Given the description of an element on the screen output the (x, y) to click on. 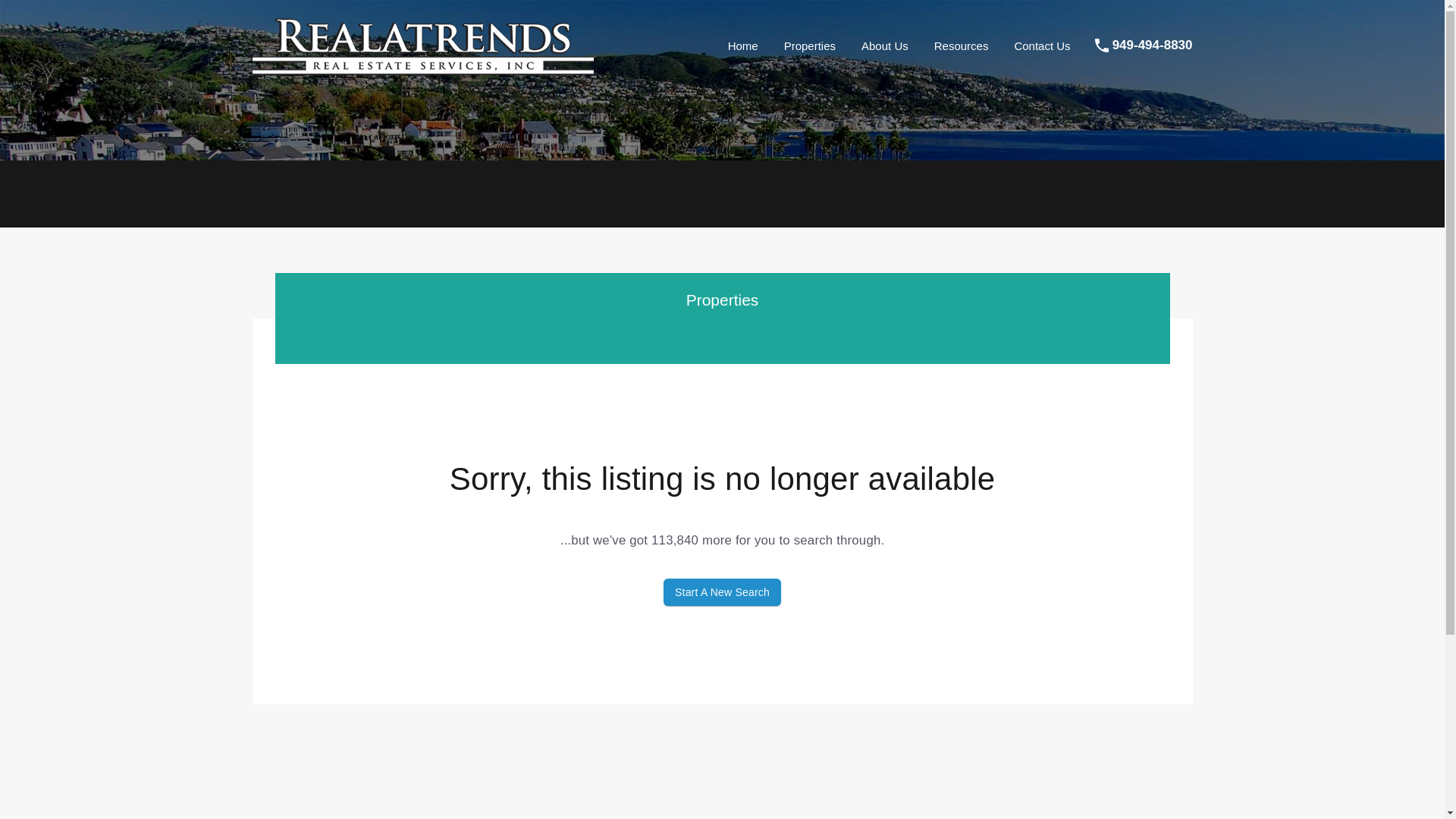
Realatrends Real Estate (421, 69)
Home (742, 46)
Properties (809, 46)
